Given the description of an element on the screen output the (x, y) to click on. 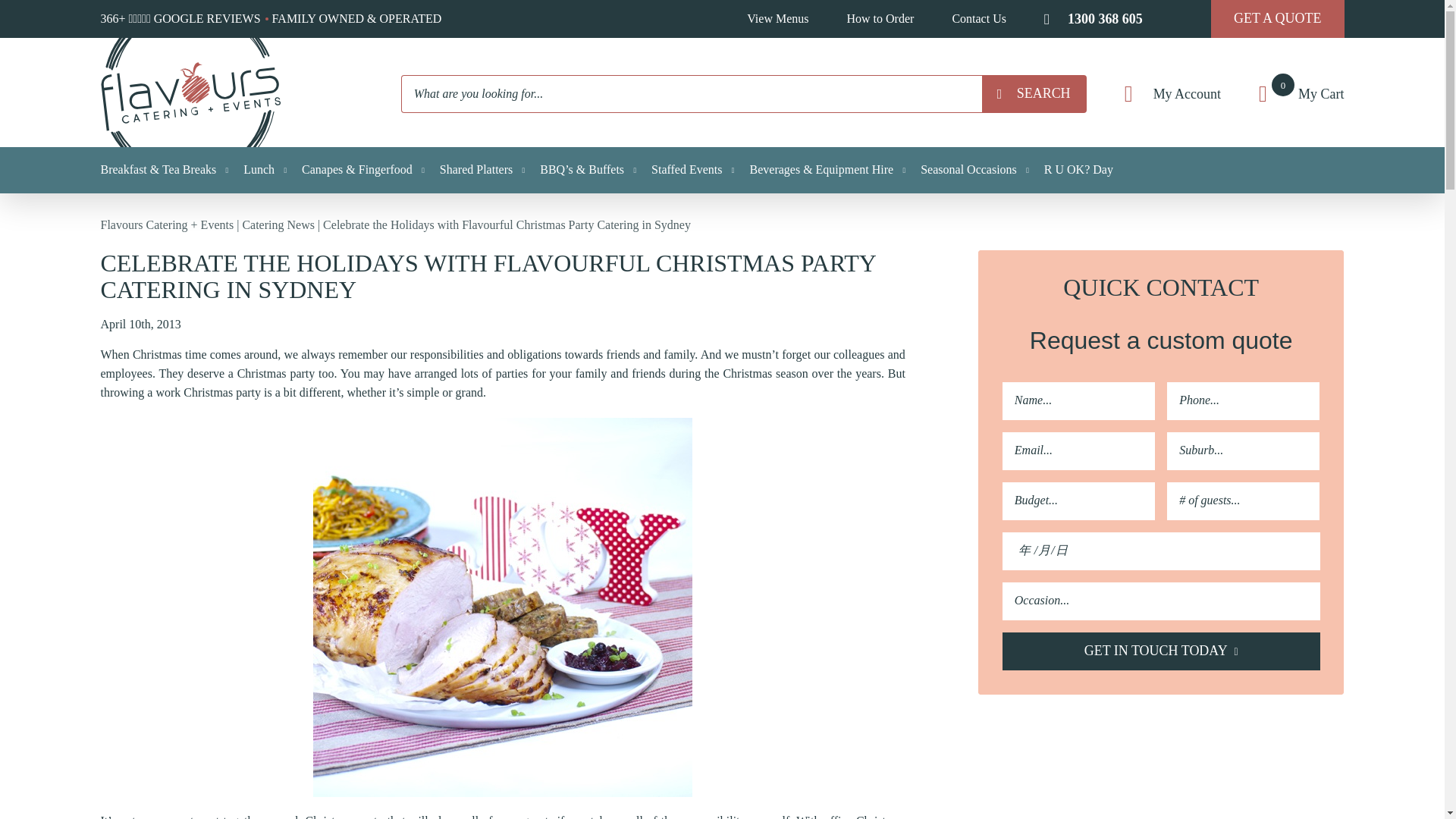
Lunch (264, 170)
View Menus (777, 19)
My Account (1172, 93)
How to Order (879, 19)
GET A QUOTE (1301, 93)
SEARCH (1277, 18)
Contact Us (1033, 94)
1300 368 605 (979, 19)
